Given the description of an element on the screen output the (x, y) to click on. 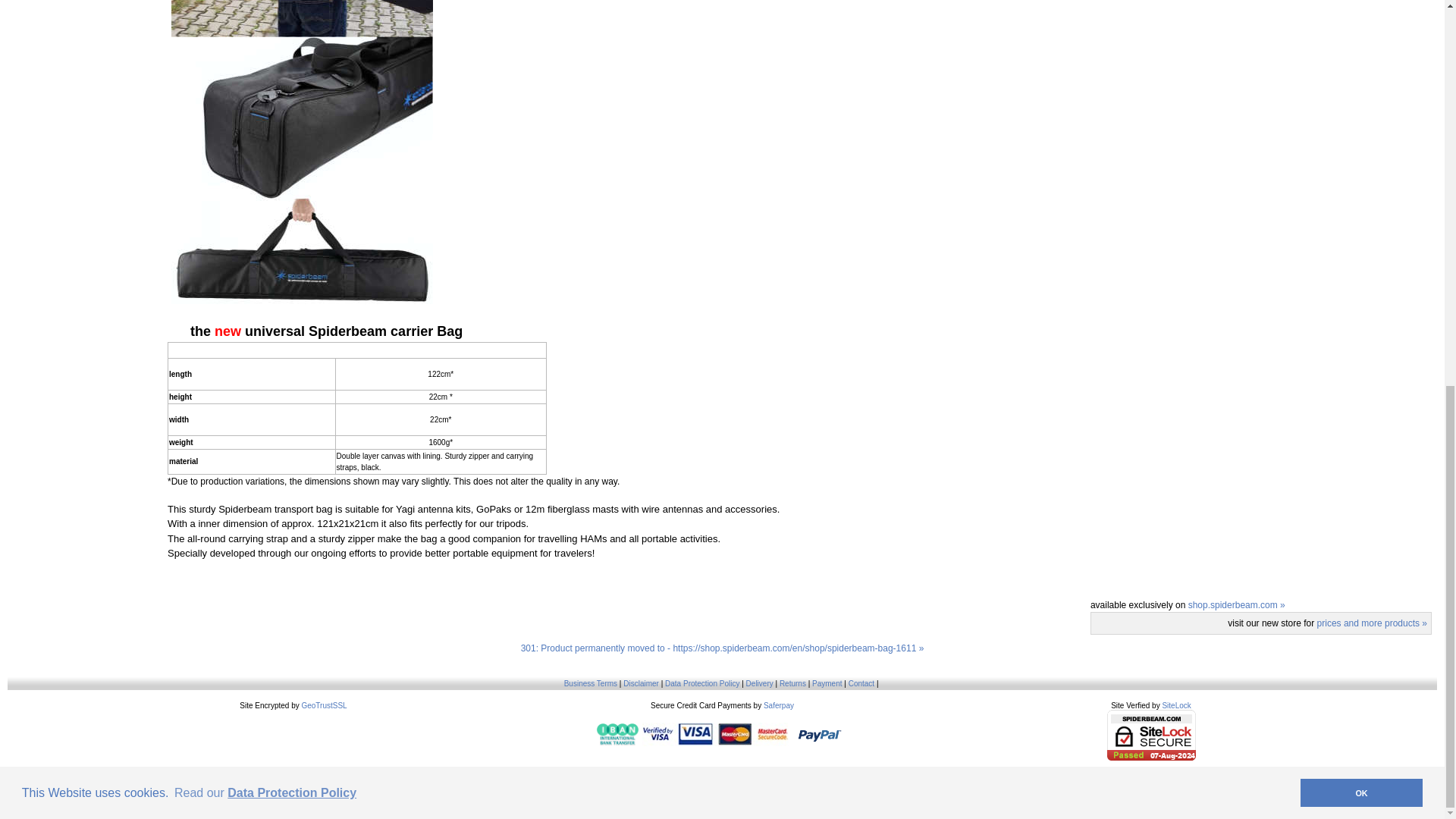
Read our Data Protection Policy (264, 65)
SaferPay (777, 705)
IBAN International Bank Transfer (617, 734)
Contact (861, 683)
GeoTrustSSL (323, 705)
OCTIC (742, 775)
Master Card (715, 734)
OK (1361, 65)
Delivery (759, 683)
PayPal (820, 734)
